Given the description of an element on the screen output the (x, y) to click on. 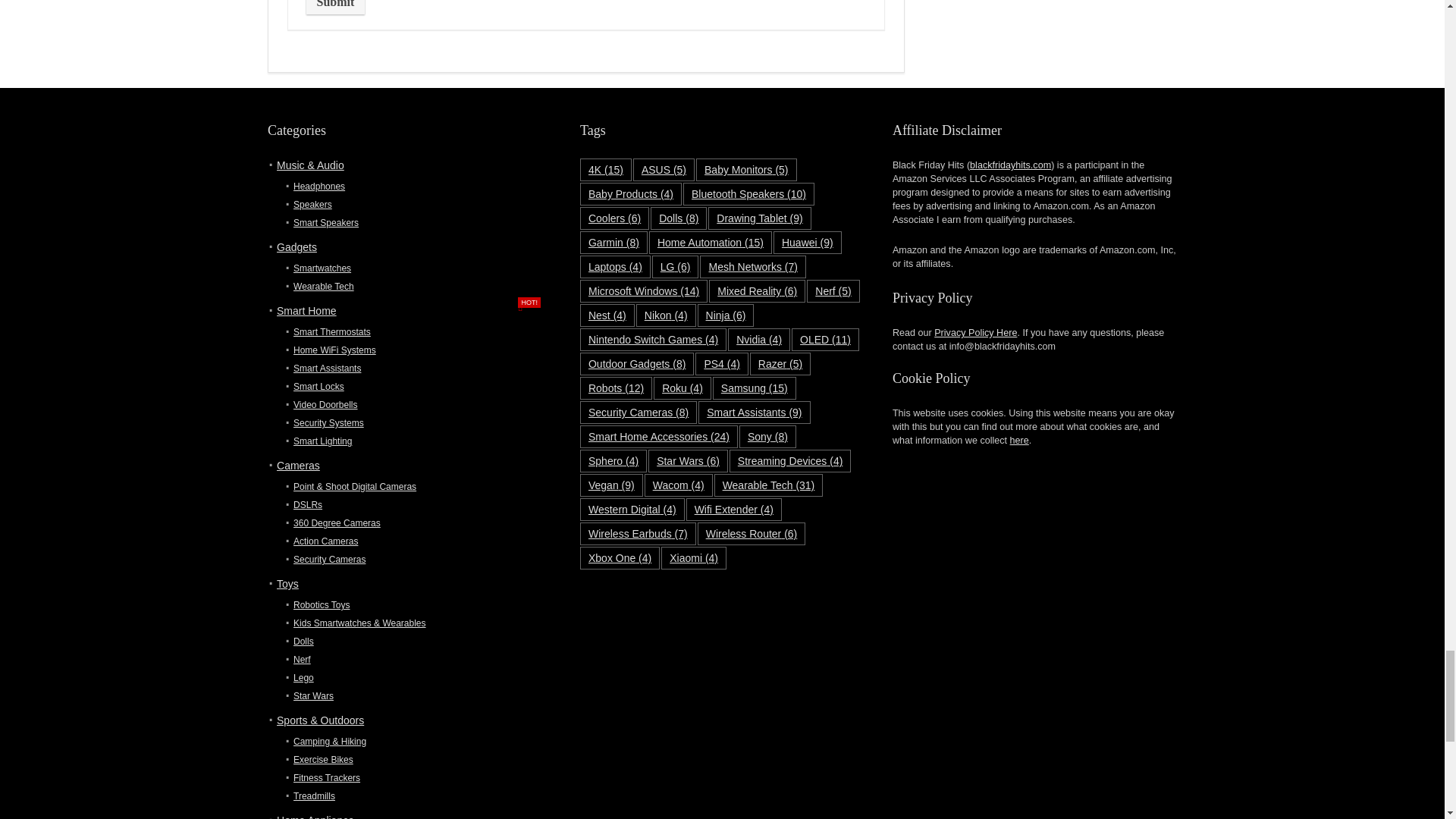
Submit (335, 7)
